Given the description of an element on the screen output the (x, y) to click on. 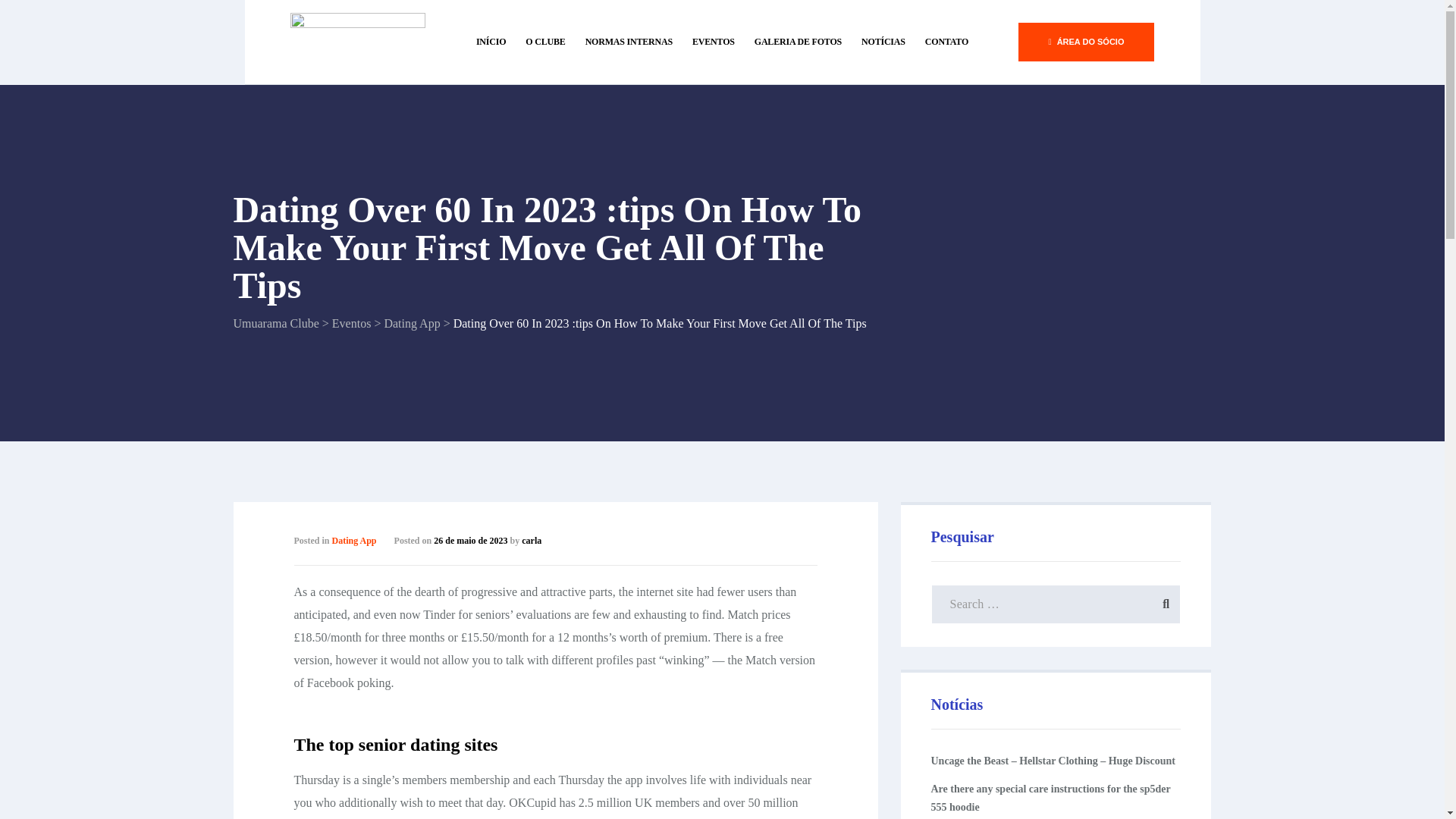
Dating App (411, 323)
NORMAS INTERNAS (628, 41)
Eventos (351, 323)
26 de maio de 2023 (469, 540)
Go to the Dating App category archives. (411, 323)
carla (531, 540)
Umuarama Clube (275, 323)
Go to Eventos. (351, 323)
Dating App (354, 540)
GALERIA DE FOTOS (797, 41)
Go to Umuarama Clube. (275, 323)
